Given the description of an element on the screen output the (x, y) to click on. 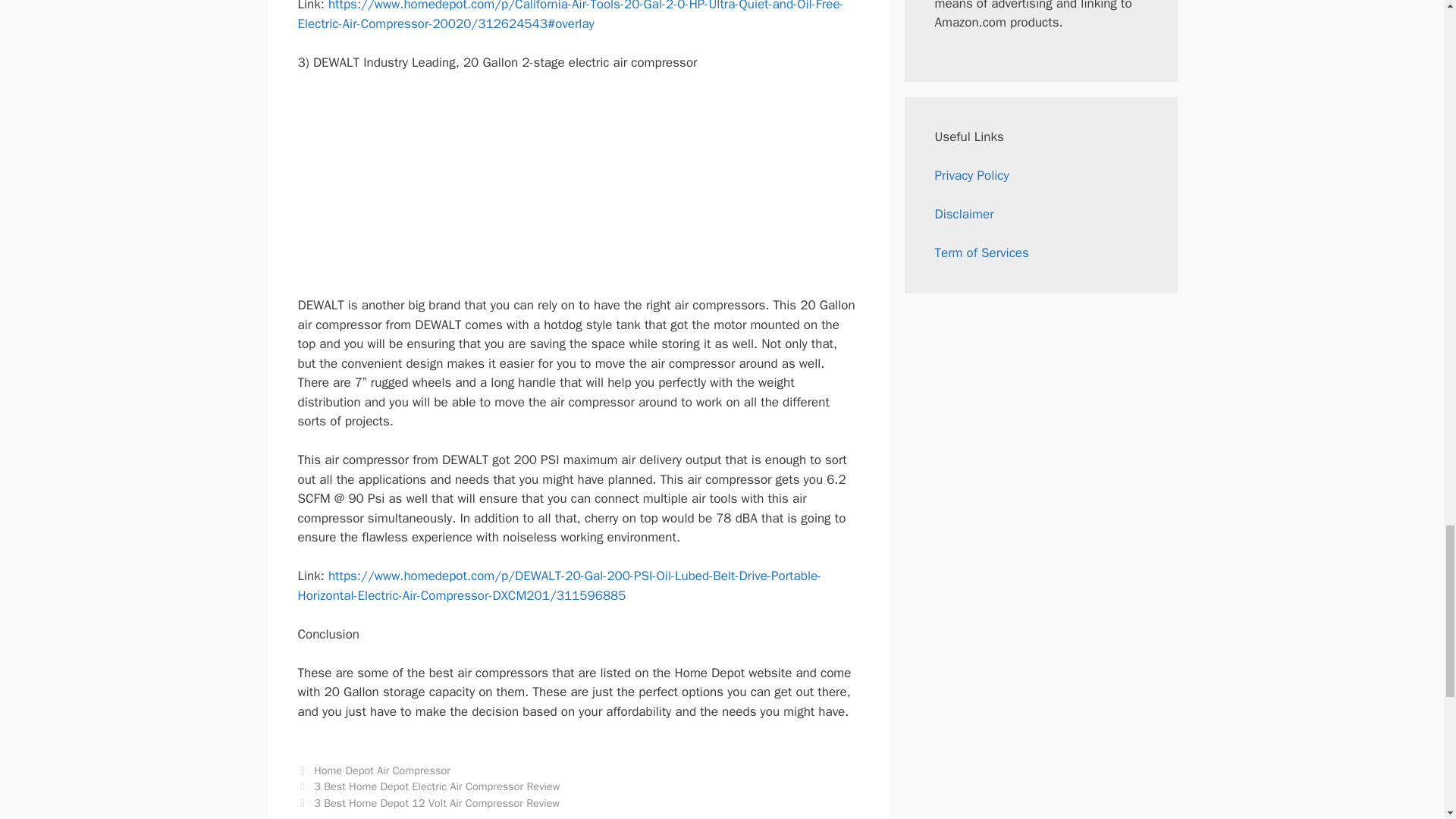
Next (428, 802)
3 Best Home Depot 12 Volt Air Compressor Review (436, 802)
Previous (428, 786)
Home Depot Air Compressor (381, 770)
3 Best Home Depot Electric Air Compressor Review (436, 786)
